Given the description of an element on the screen output the (x, y) to click on. 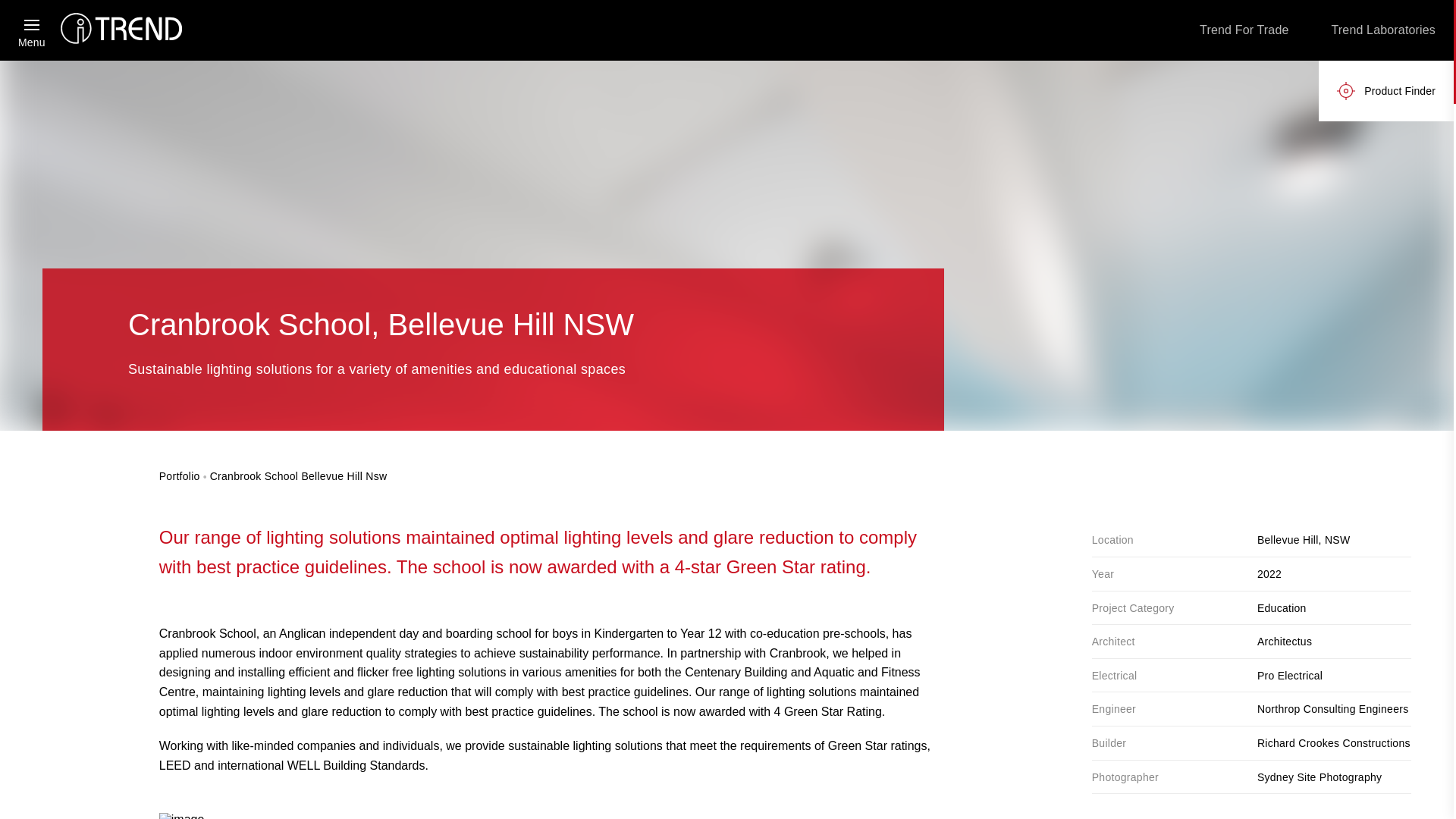
Trend Laboratories (1383, 30)
Portfolio (179, 476)
Trend For Trade (1243, 30)
